Given the description of an element on the screen output the (x, y) to click on. 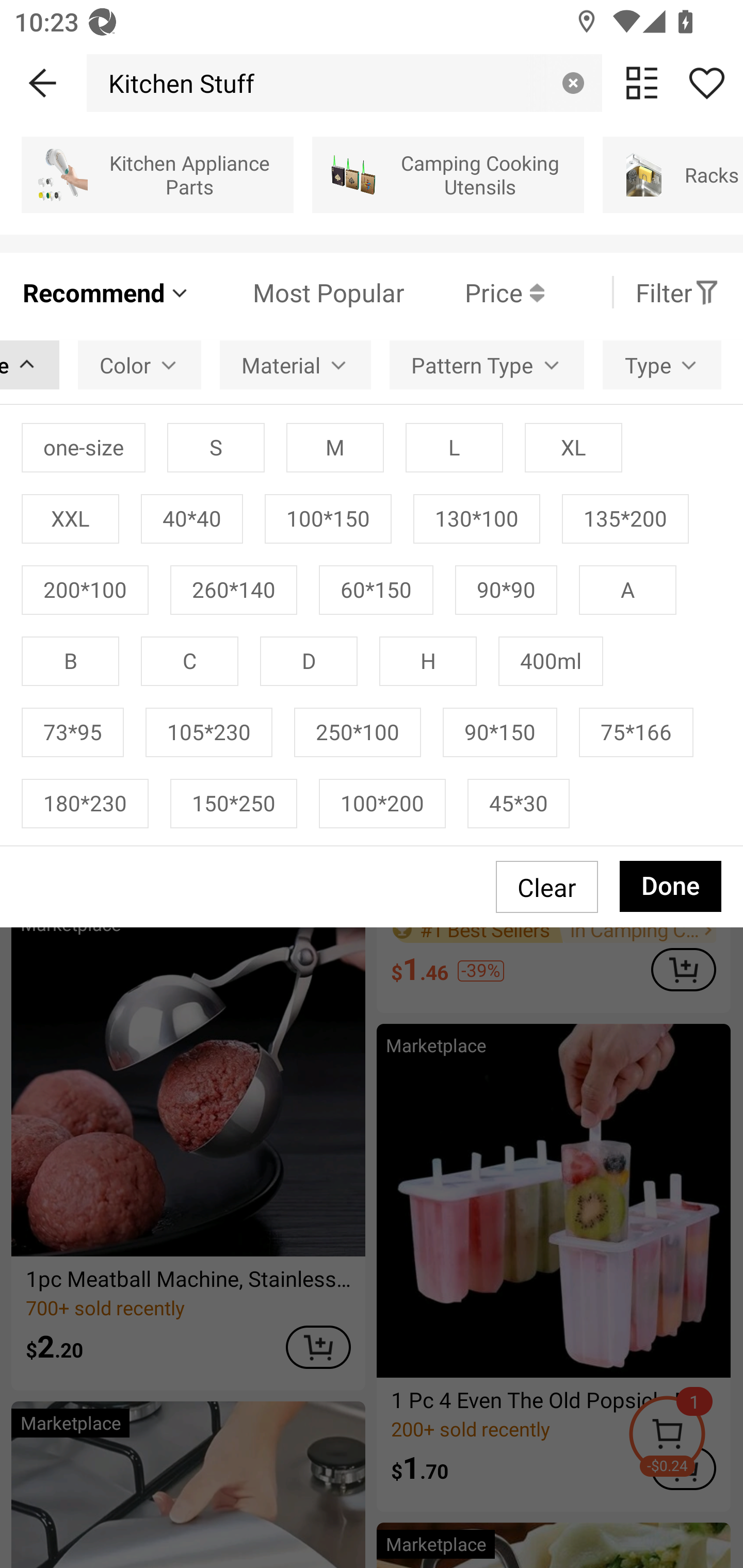
Kitchen Stuff (175, 82)
Clear (572, 82)
change view (641, 82)
Share (706, 82)
Kitchen Appliance Parts (157, 174)
Camping Cooking Utensils (447, 174)
Racks & Holders (672, 174)
Recommend (106, 292)
Most Popular (297, 292)
Price (474, 292)
Filter (677, 292)
Color (139, 364)
Material (294, 364)
Pattern Type (486, 364)
Type (661, 364)
